Given the description of an element on the screen output the (x, y) to click on. 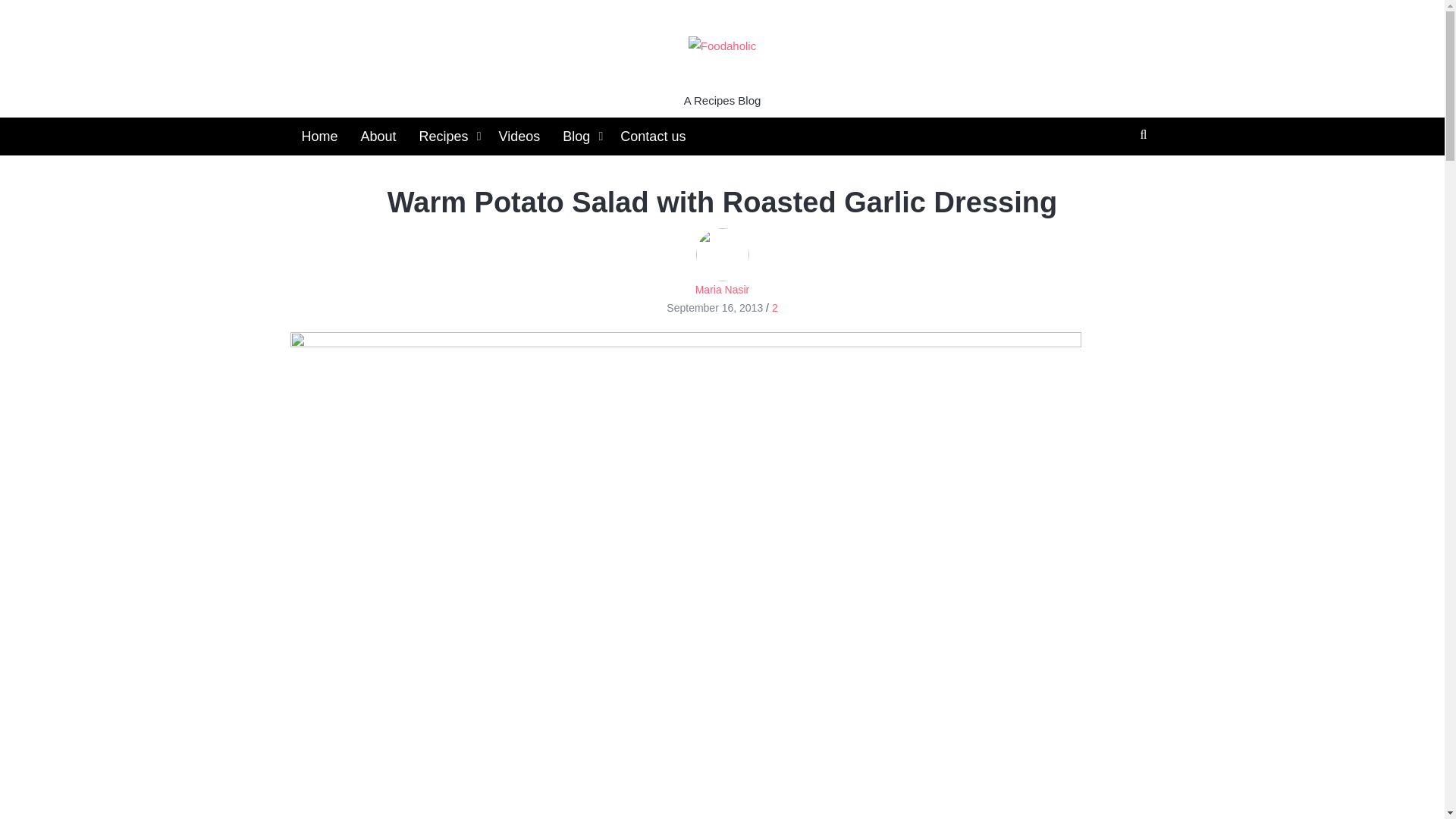
Videos (519, 136)
Maria Nasir (721, 261)
Search (772, 157)
About (378, 136)
Recipes (447, 136)
Contact us (652, 136)
Blog (579, 136)
Home (319, 136)
